Given the description of an element on the screen output the (x, y) to click on. 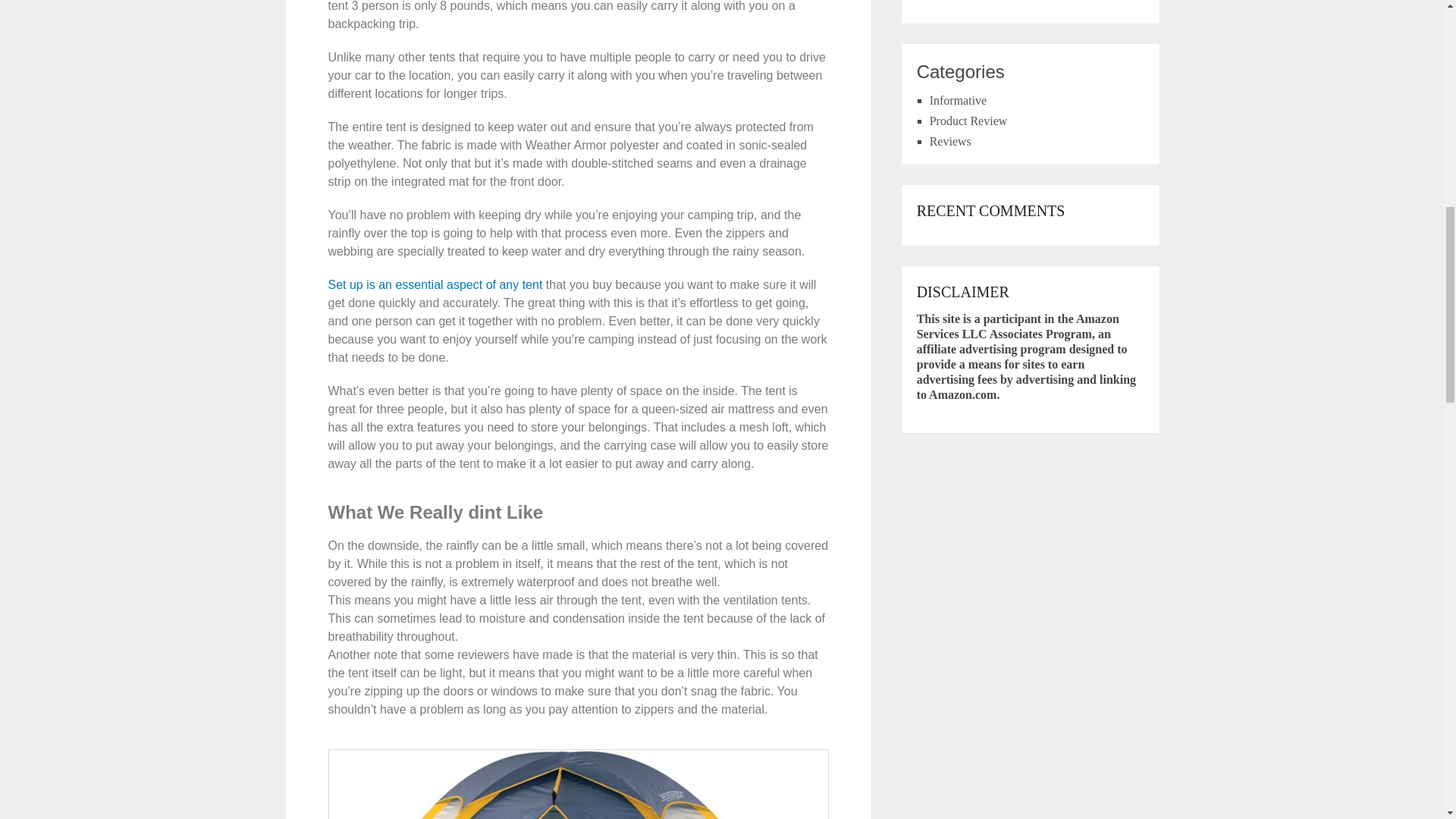
Set up is an essential aspect of any tent (434, 284)
Product Review (968, 120)
Reviews (950, 141)
Informative (958, 100)
